Given the description of an element on the screen output the (x, y) to click on. 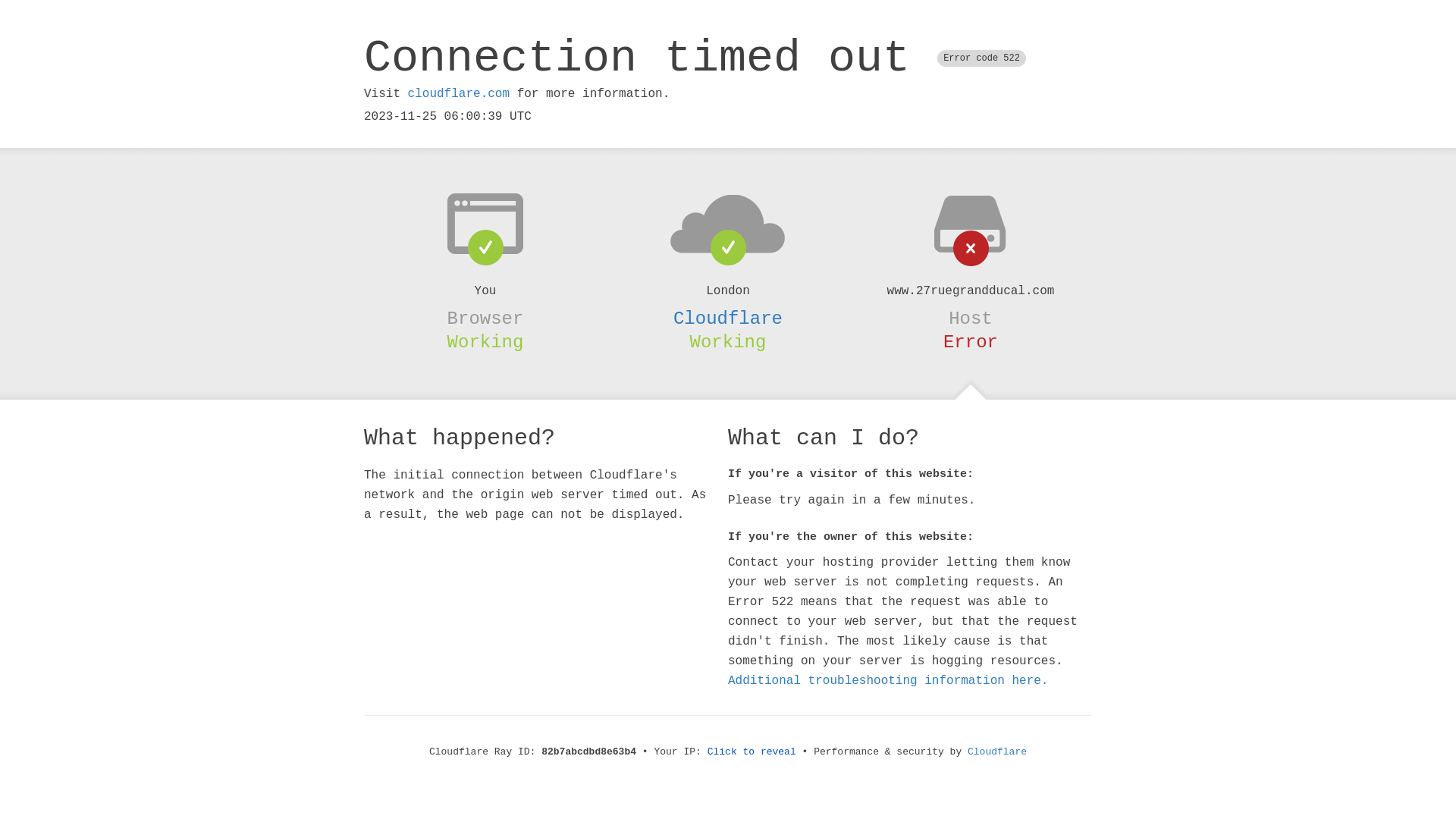
Cloudflare Element type: text (727, 318)
Cloudflare Element type: text (996, 751)
Click to reveal Element type: text (751, 751)
Additional troubleshooting information here. Element type: text (888, 680)
cloudflare.com Element type: text (458, 93)
